Given the description of an element on the screen output the (x, y) to click on. 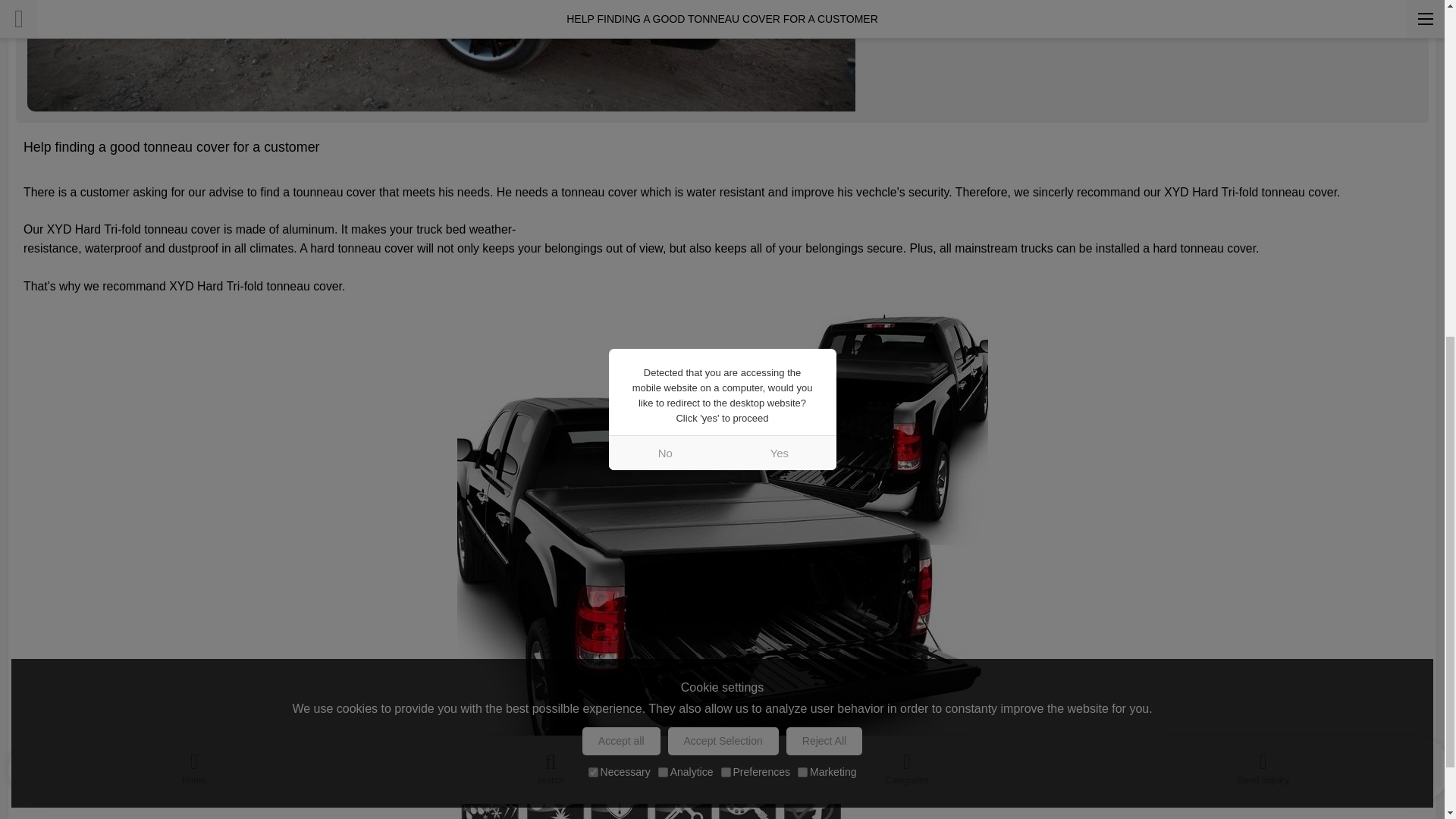
search (550, 145)
Send Inquiry (1262, 145)
on (725, 152)
Accept all (621, 121)
Home (194, 145)
Send Inquiry (1262, 145)
on (663, 152)
search (550, 145)
Home (194, 145)
on (802, 152)
Accept Selection (723, 121)
Reject All (823, 121)
on (593, 152)
Categories (906, 145)
Categories (906, 145)
